Given the description of an element on the screen output the (x, y) to click on. 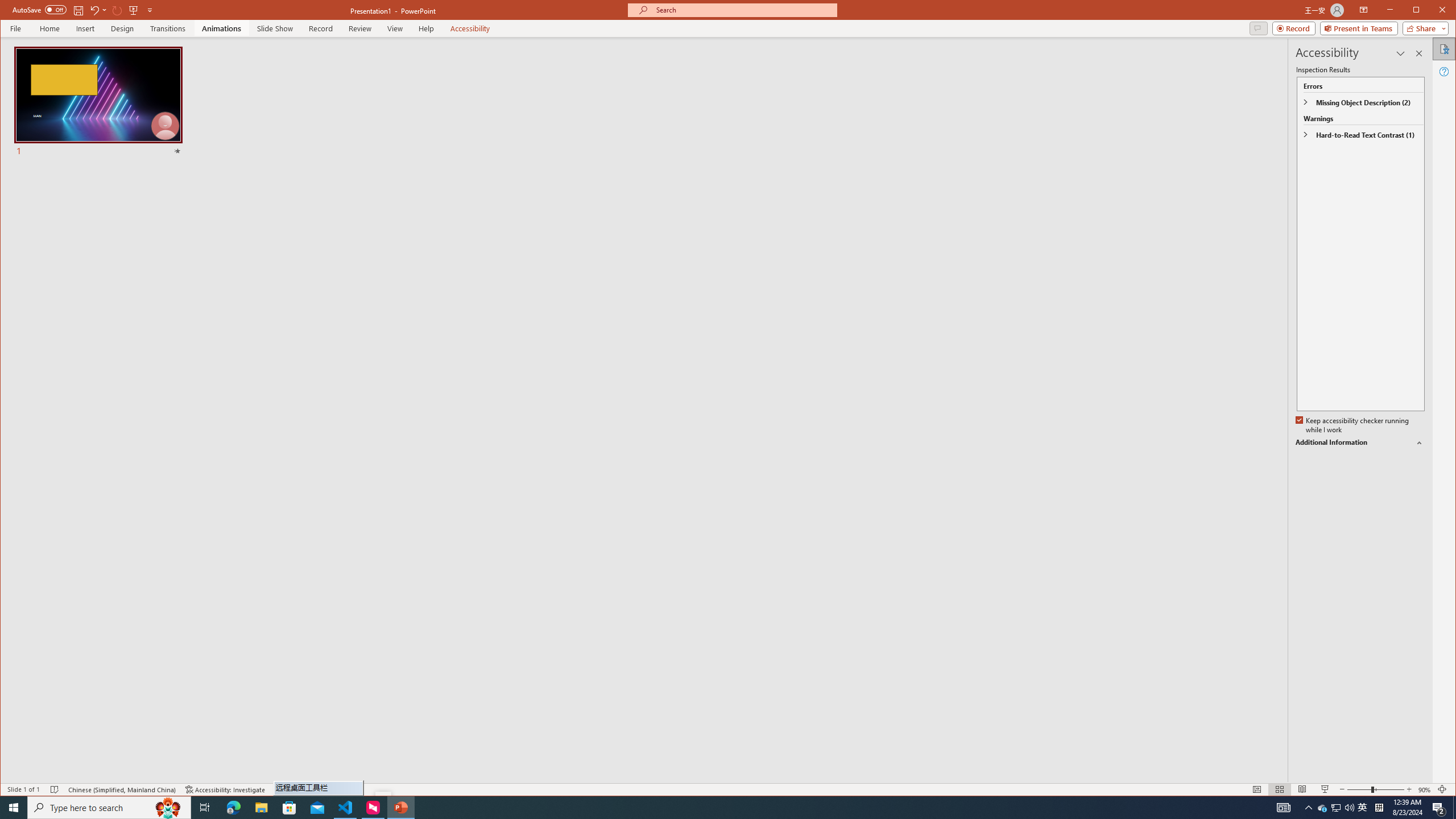
Zoom 90% (1424, 789)
